Given the description of an element on the screen output the (x, y) to click on. 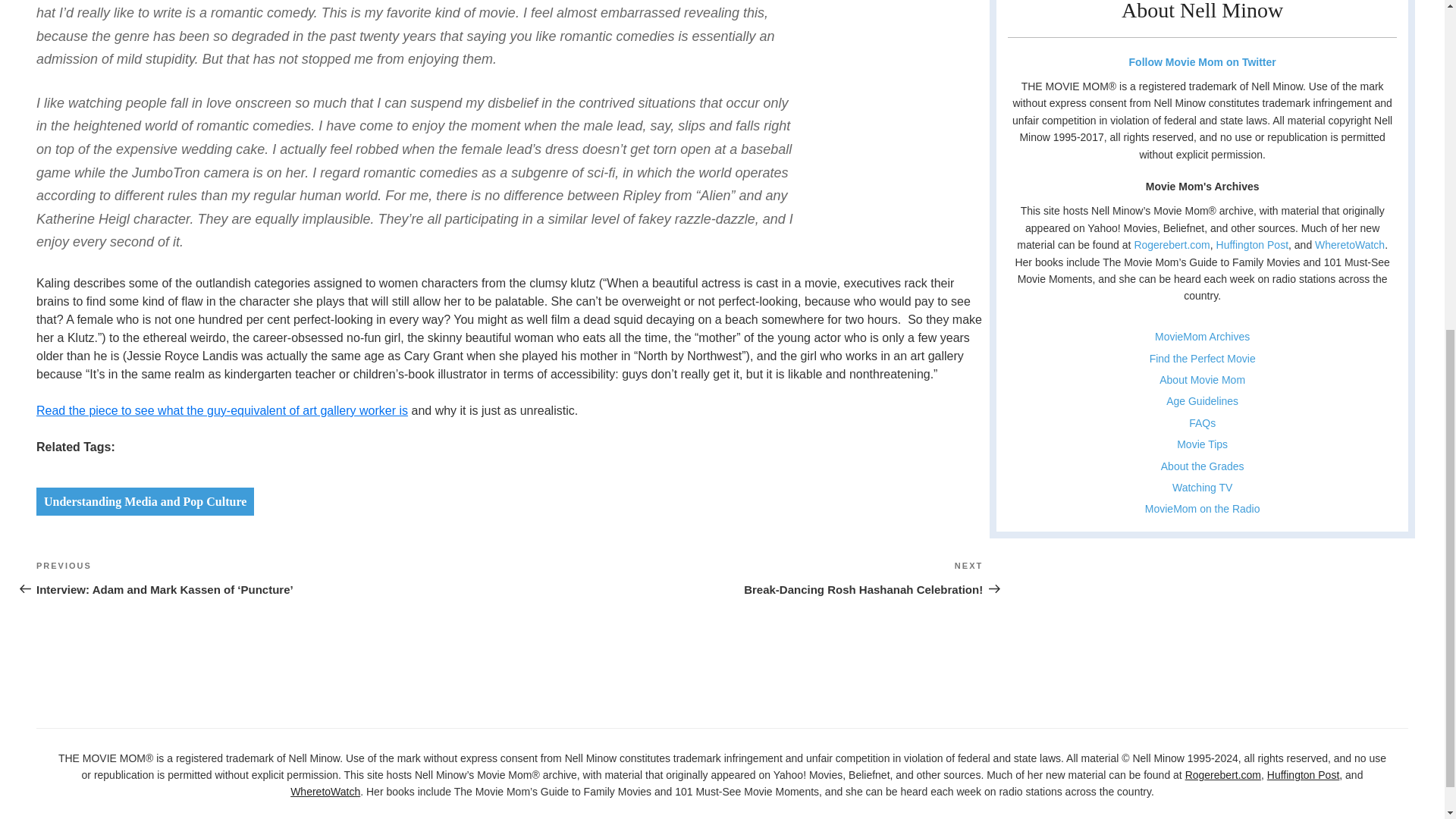
About Movie Mom (1201, 379)
Age Guidelines (1202, 400)
Find the Perfect Movie (1202, 358)
Follow Movie Mom on Twitter (1201, 62)
About the Grades (1202, 466)
Rogerebert.com (745, 577)
Huffington Post (1171, 244)
Huffington Post (1302, 775)
Understanding Media and Pop Culture (1251, 244)
Rogerebert.com (144, 501)
Movie Tips (1222, 775)
FAQs (1201, 444)
MovieMom Archives (1202, 422)
